Given the description of an element on the screen output the (x, y) to click on. 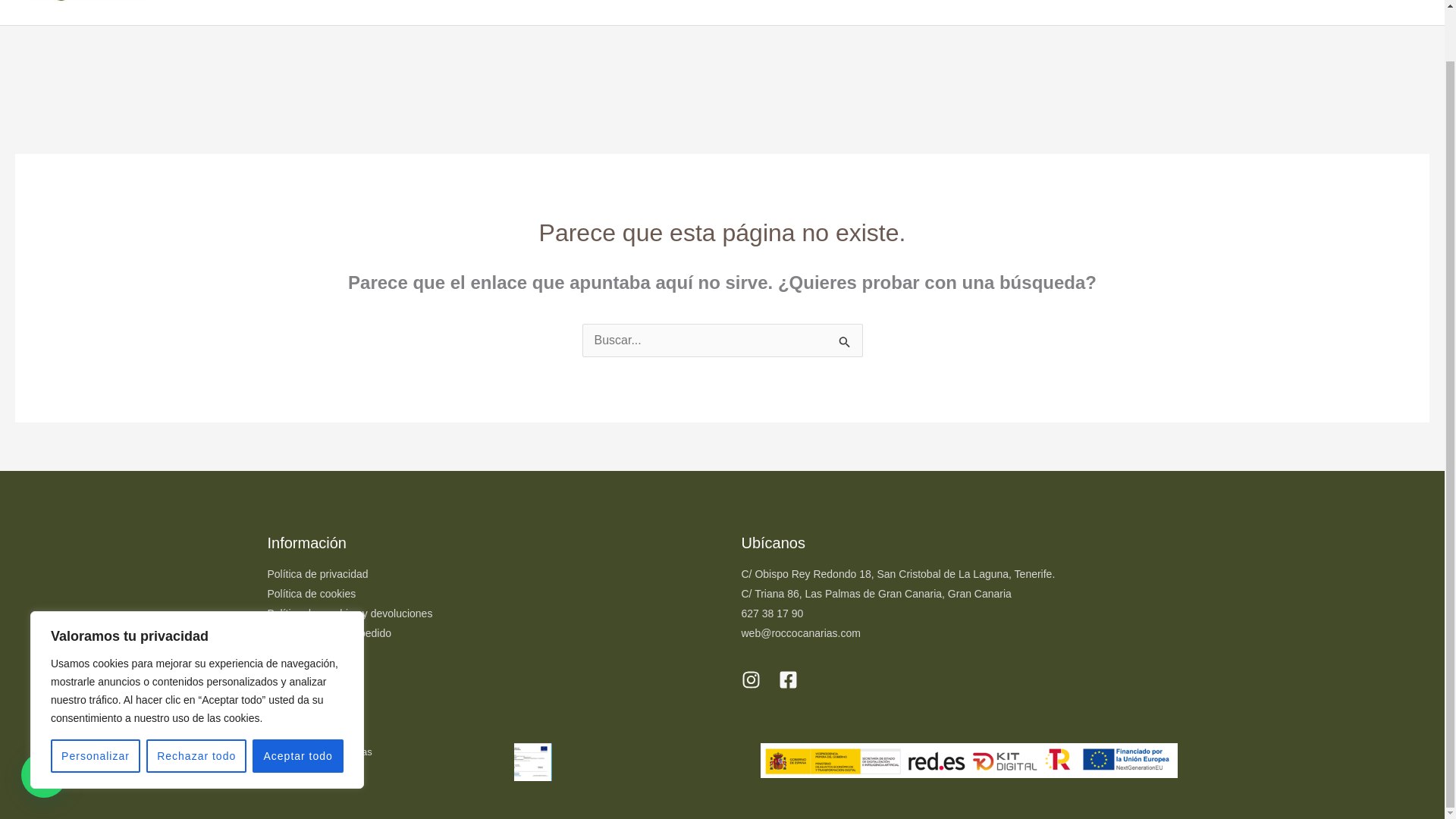
Buscar (844, 342)
Inicio (541, 12)
Tienda (600, 12)
Buscar (844, 342)
Rechazar todo (196, 701)
Aceptar todo (297, 701)
Personalizar (94, 701)
